Given the description of an element on the screen output the (x, y) to click on. 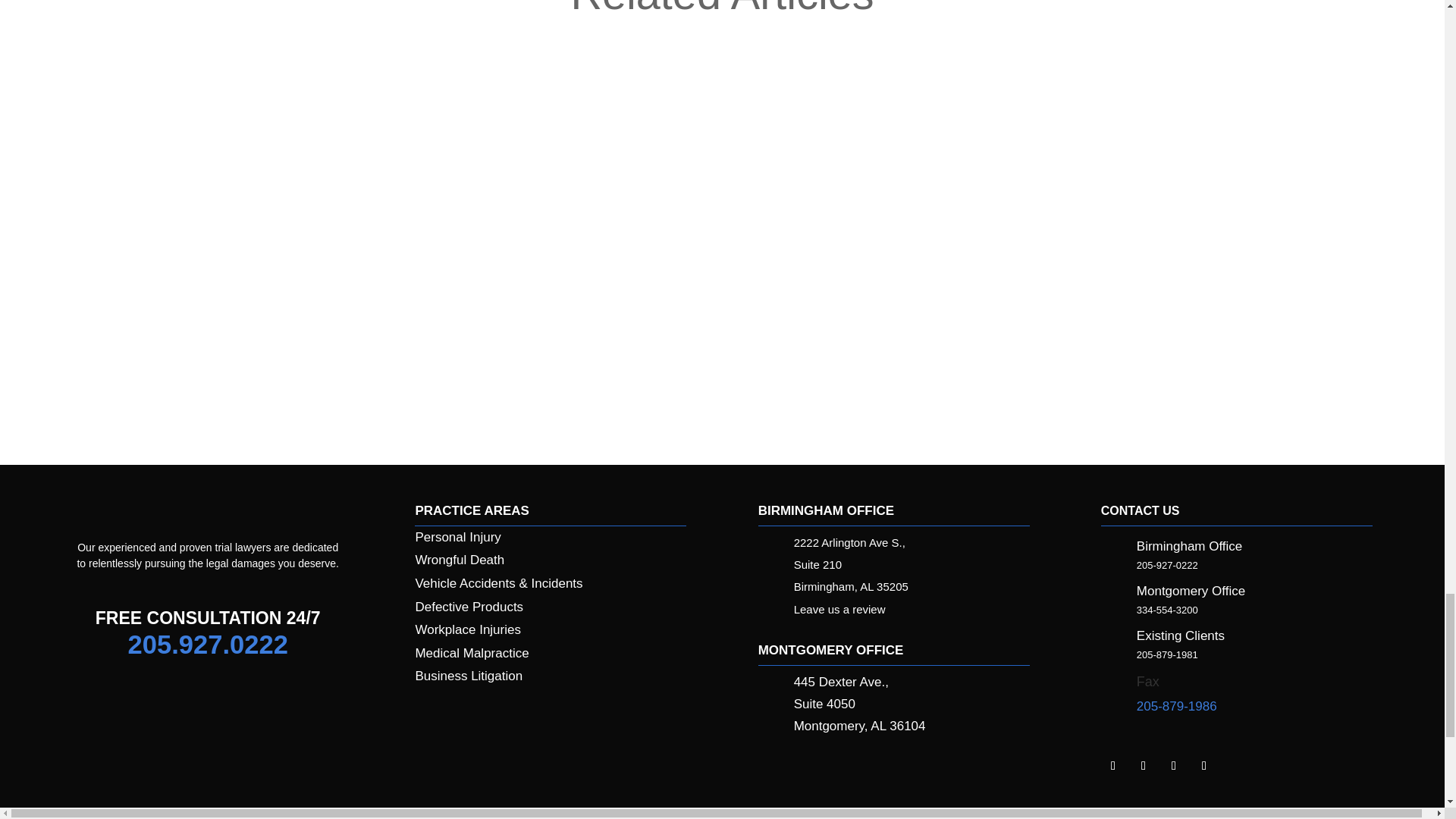
Follow on LinkedIn (1112, 765)
Follow on Youtube (1203, 765)
Follow on Facebook (1143, 765)
Follow on X (1173, 765)
